Given the description of an element on the screen output the (x, y) to click on. 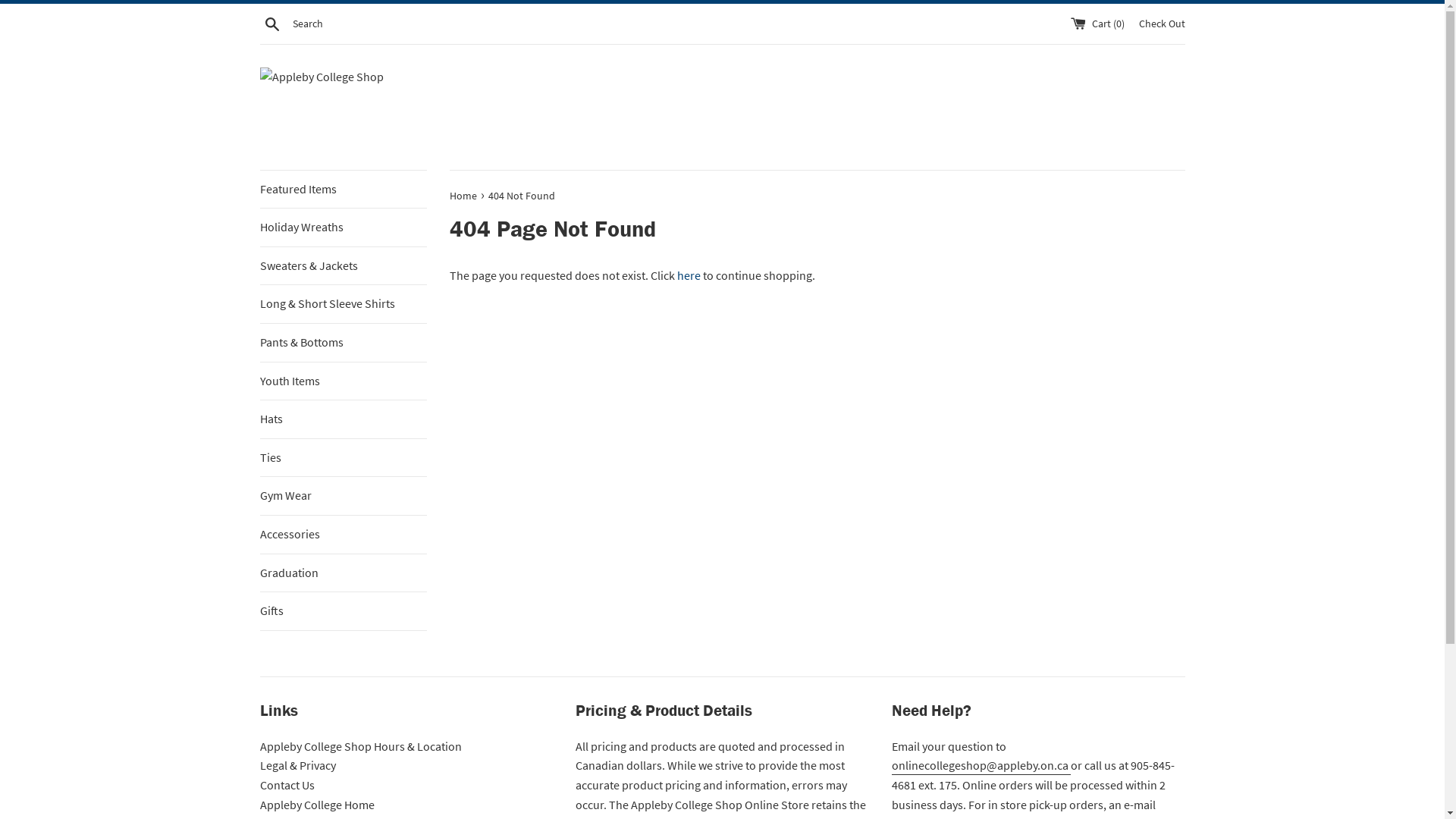
Hats Element type: text (342, 419)
Appleby College Shop Hours & Location Element type: text (360, 745)
Check Out Element type: text (1162, 23)
Ties Element type: text (342, 457)
here Element type: text (687, 274)
Gifts Element type: text (342, 611)
Legal & Privacy Element type: text (297, 764)
Long & Short Sleeve Shirts Element type: text (342, 304)
Featured Items Element type: text (342, 189)
Home Element type: text (463, 195)
Pants & Bottoms Element type: text (342, 342)
onlinecollegeshop@appleby.on.ca Element type: text (980, 766)
Holiday Wreaths Element type: text (342, 227)
Accessories Element type: text (342, 534)
Search Element type: text (271, 22)
Contact Us Element type: text (286, 784)
Graduation Element type: text (342, 573)
Youth Items Element type: text (342, 381)
Gym Wear Element type: text (342, 495)
Sweaters & Jackets Element type: text (342, 266)
Appleby College Home Element type: text (316, 804)
Cart (0) Element type: text (1098, 23)
